Given the description of an element on the screen output the (x, y) to click on. 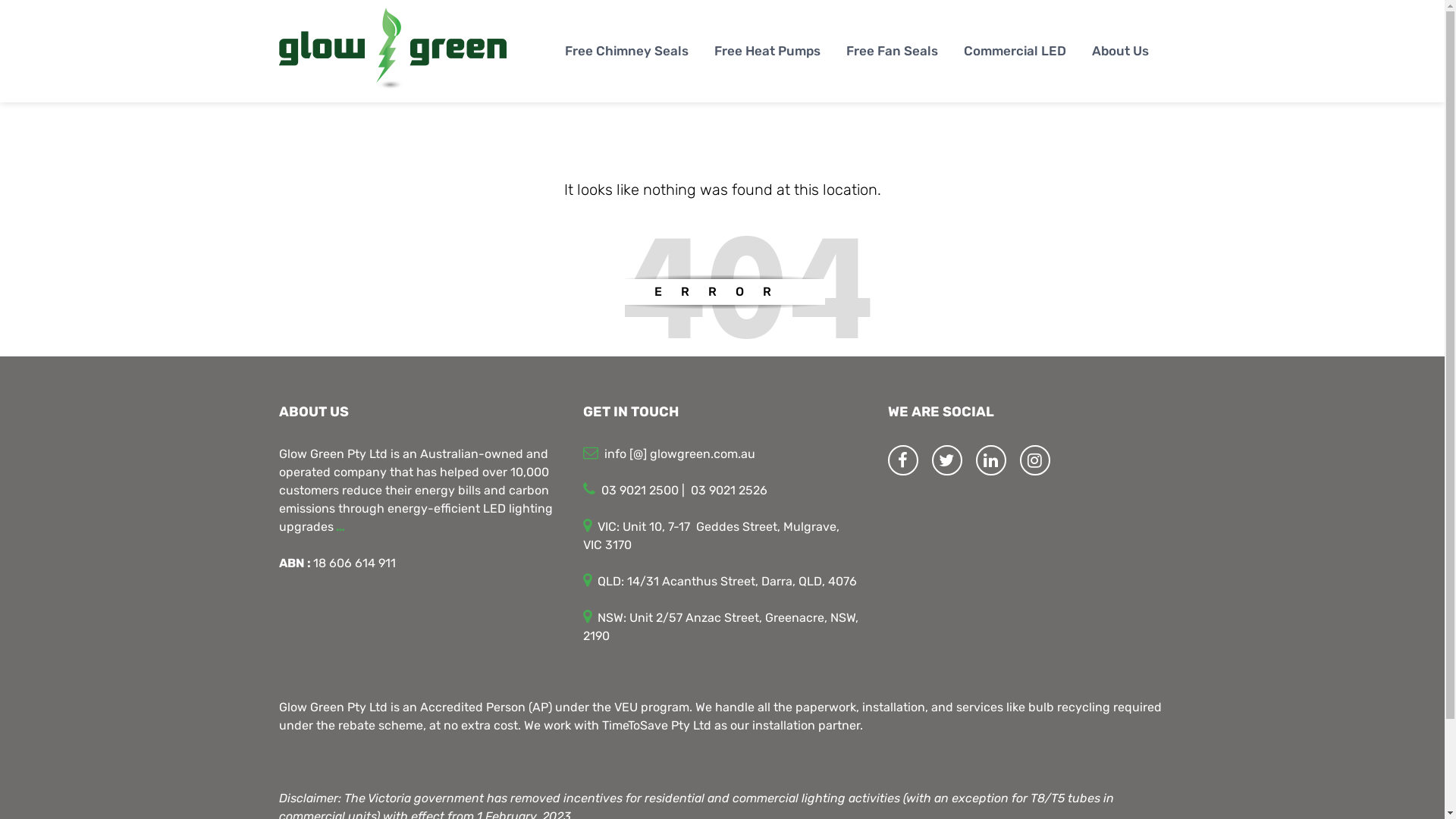
03 9021 2526 Element type: text (728, 490)
Free Chimney Seals Element type: text (626, 51)
Commercial LED Element type: text (1014, 51)
Free Heat Pumps Element type: text (766, 51)
Free Fan Seals Element type: text (891, 51)
03 9021 2500 Element type: text (639, 490)
About Us Element type: text (1120, 51)
TimeToSave Pty Ltd Element type: text (656, 725)
